Given the description of an element on the screen output the (x, y) to click on. 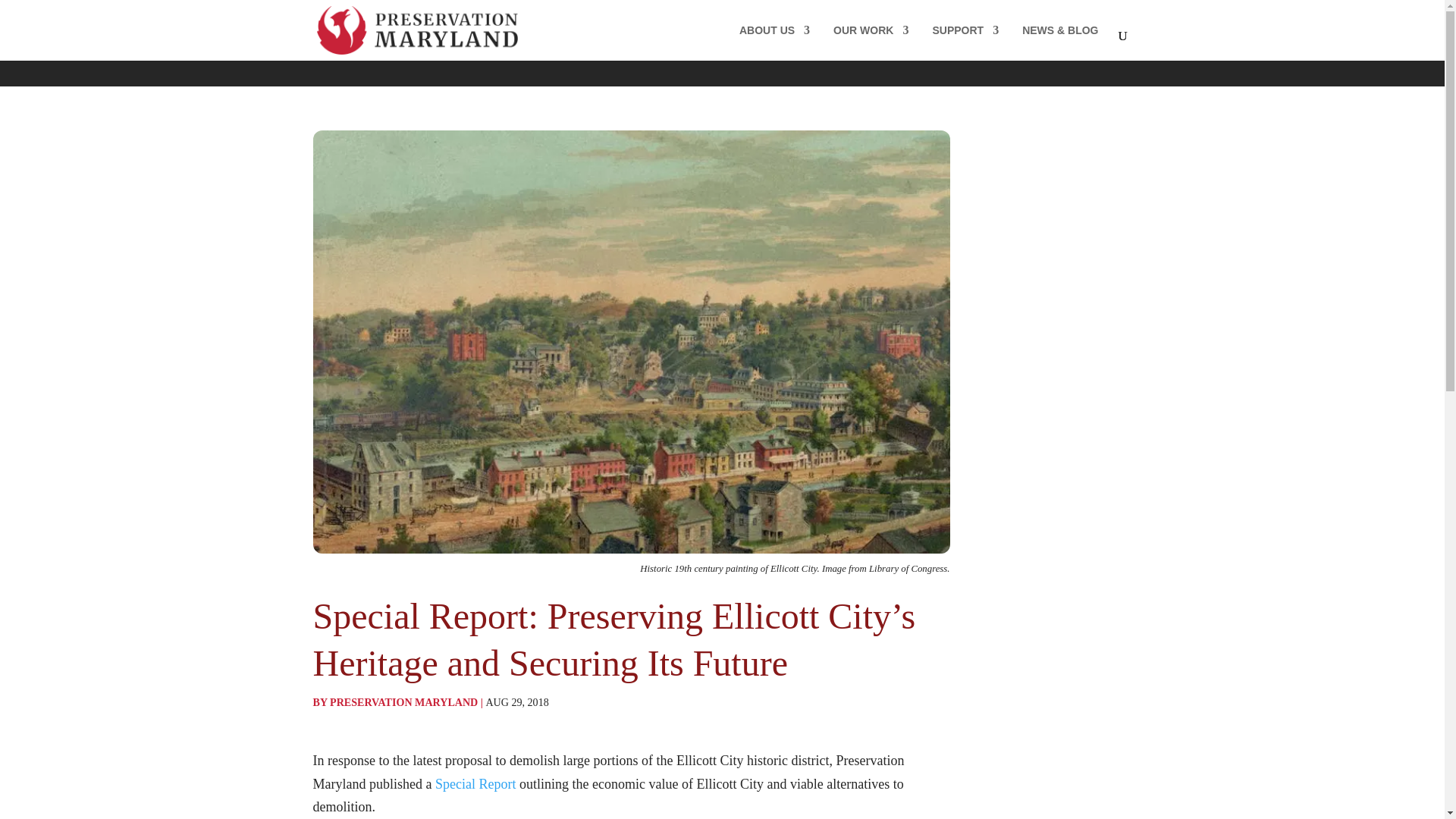
ABOUT US (774, 42)
Posts by Preservation Maryland (403, 702)
OUR WORK (870, 42)
